Given the description of an element on the screen output the (x, y) to click on. 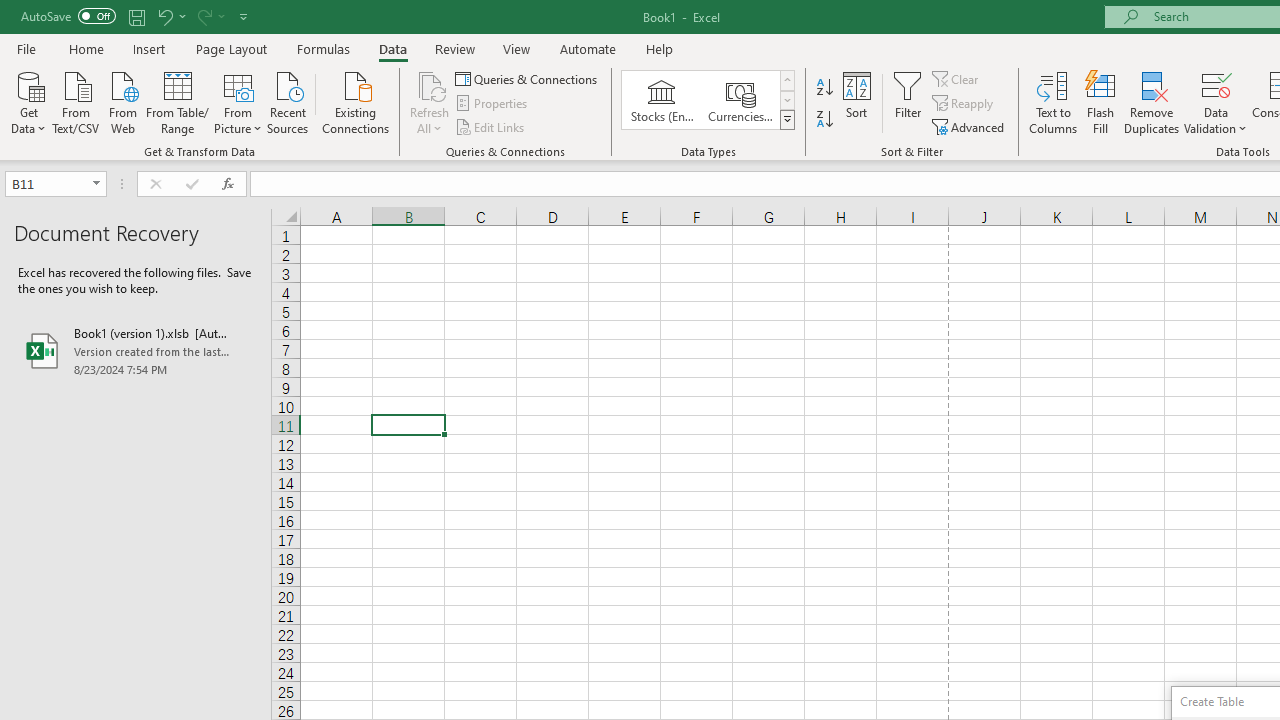
Row up (786, 79)
Class: NetUIImage (787, 119)
Sort Z to A (824, 119)
Data Types (786, 120)
Edit Links (491, 126)
Existing Connections (355, 101)
Flash Fill (1101, 102)
Reapply (964, 103)
